Given the description of an element on the screen output the (x, y) to click on. 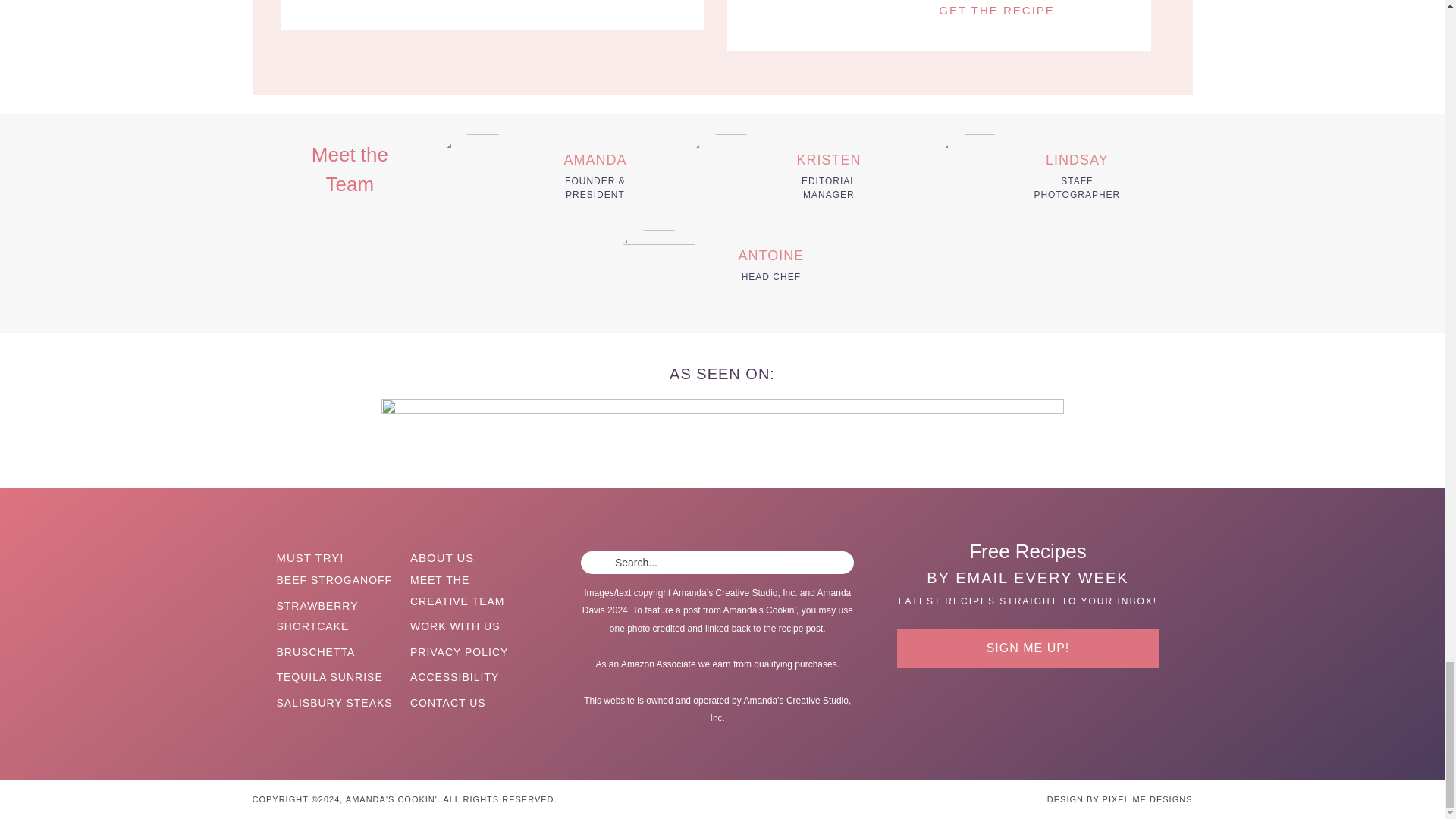
Search (836, 563)
Search (836, 563)
